Given the description of an element on the screen output the (x, y) to click on. 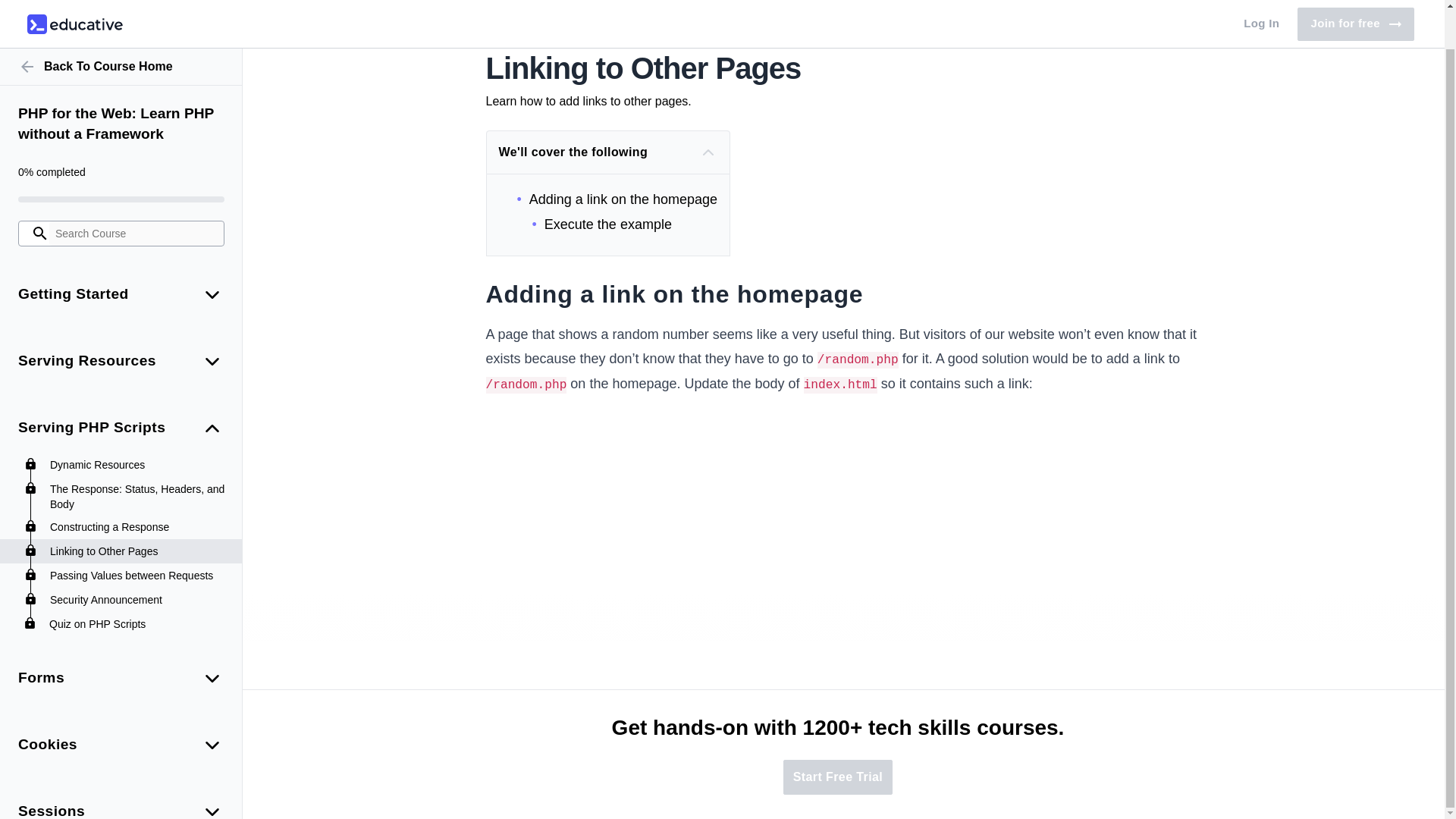
PHP for the Web: Learn PHP without a Framework (121, 83)
Back To Course Home (121, 25)
Constructing a Response (138, 485)
The Response: Status, Headers, and Body (138, 455)
Linking to Other Pages (138, 509)
Dynamic Resources (138, 423)
Passing Values between Requests (138, 534)
Security Announcement (138, 558)
Quiz on PHP Scripts (138, 582)
Log In (1261, 3)
